Given the description of an element on the screen output the (x, y) to click on. 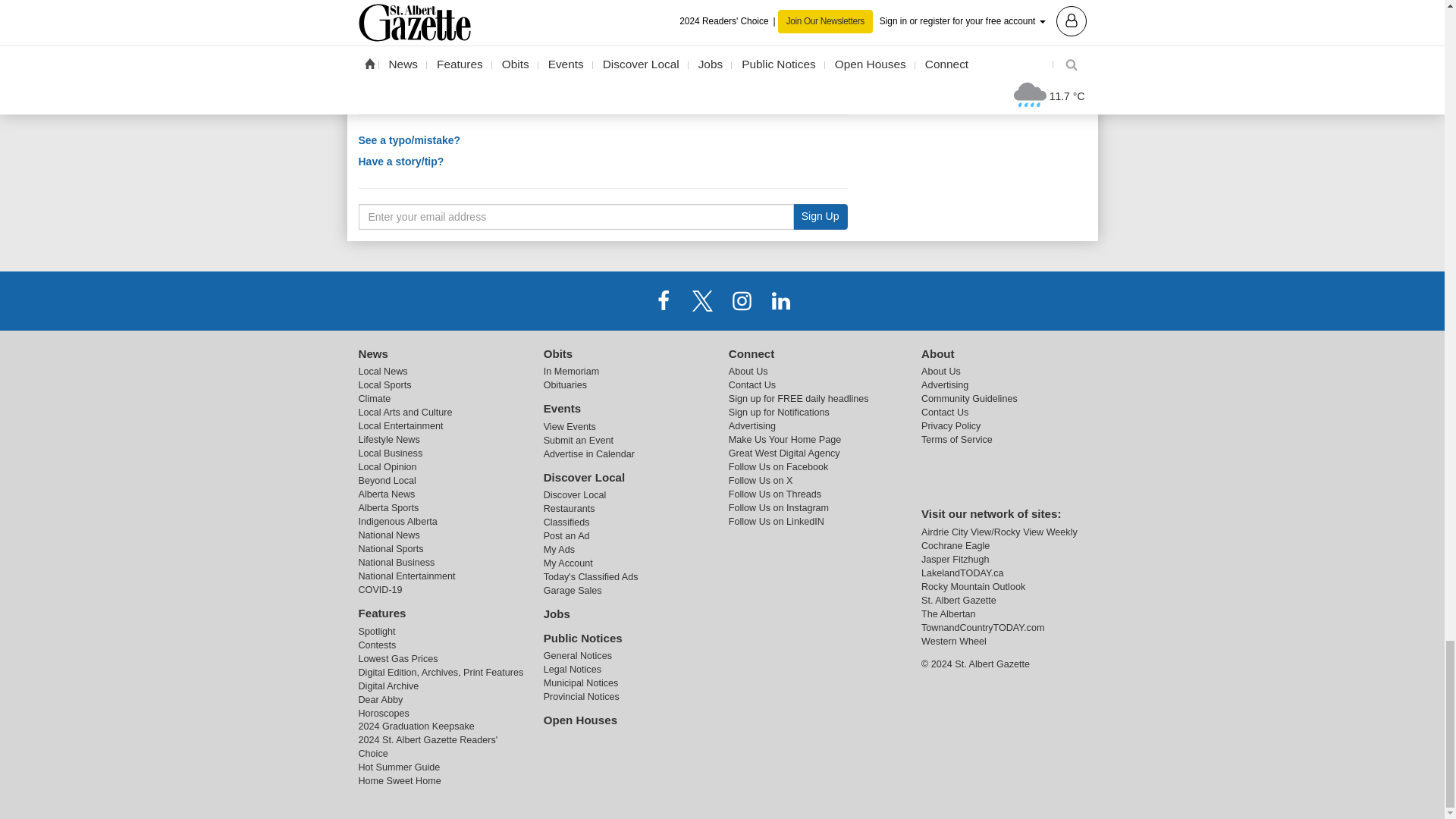
X (702, 299)
LinkedIn (780, 299)
Instagram (741, 299)
Facebook (663, 299)
